Given the description of an element on the screen output the (x, y) to click on. 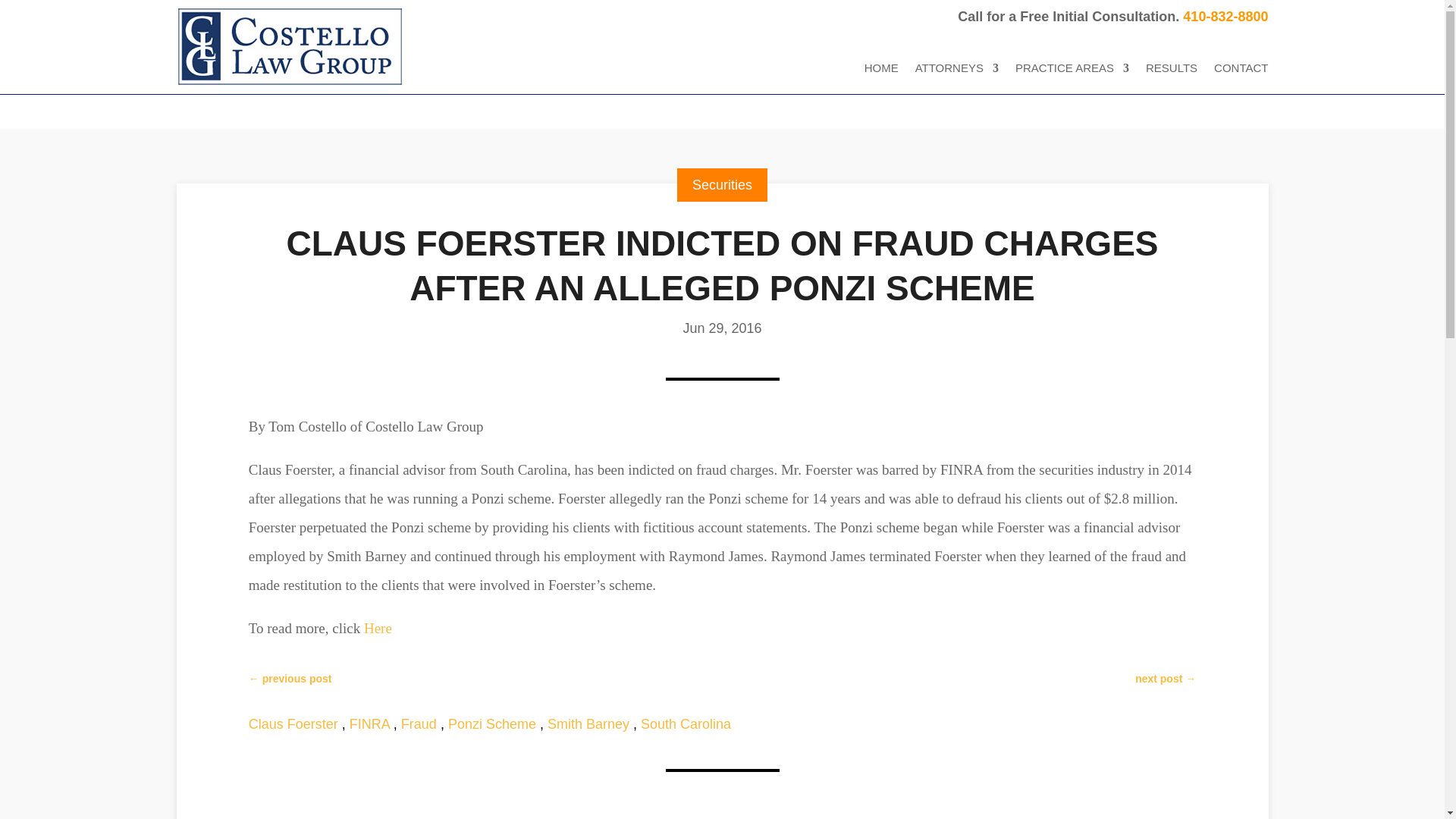
clglogo300 (289, 46)
HOME (881, 71)
Securities (722, 184)
ATTORNEYS (956, 71)
PRACTICE AREAS (1071, 71)
RESULTS (1170, 71)
CONTACT (1241, 71)
